Given the description of an element on the screen output the (x, y) to click on. 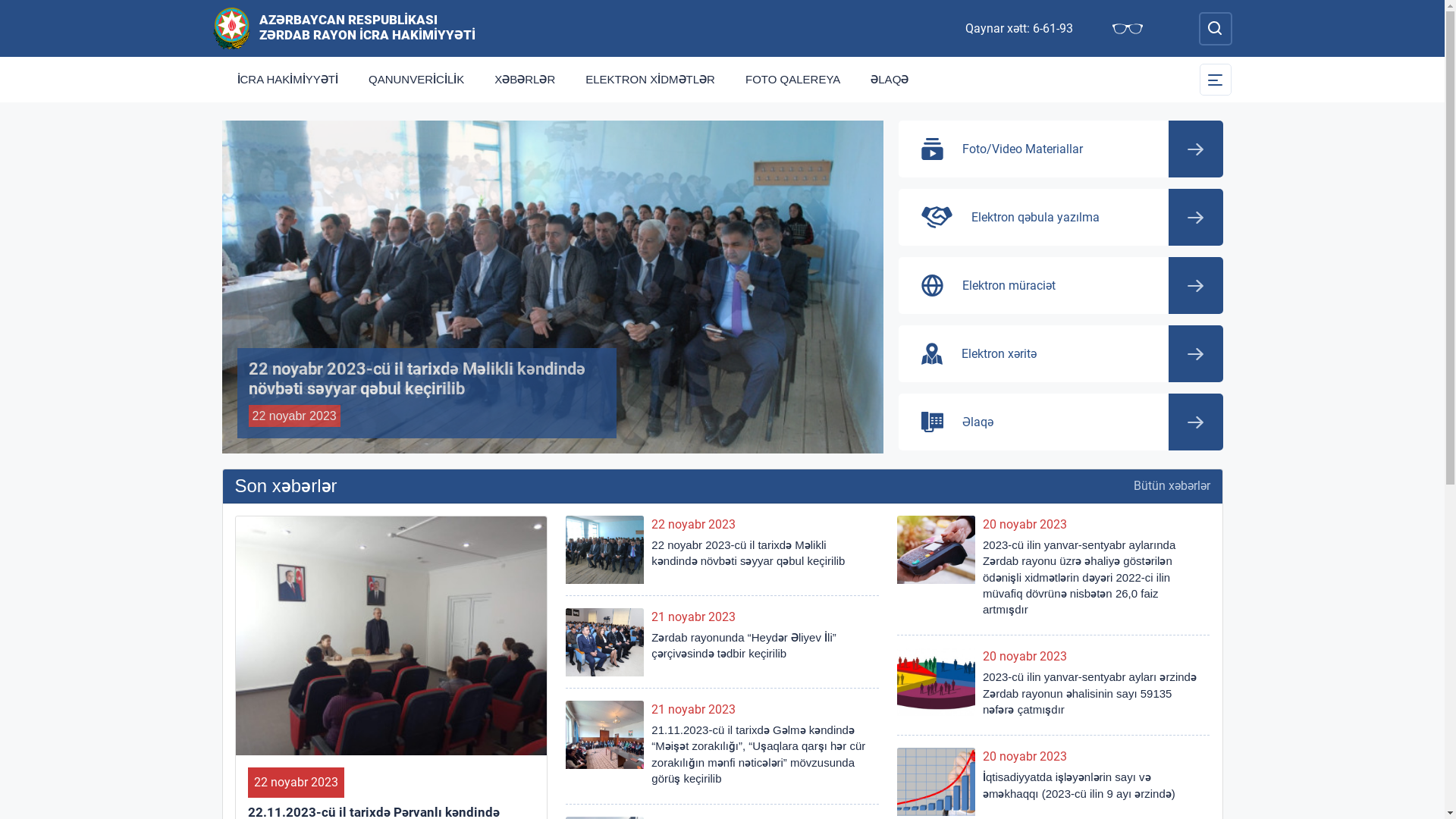
FOTO QALEREYA Element type: text (792, 79)
Foto/Video Materiallar Element type: text (1059, 148)
QANUNVERICILIK Element type: text (416, 79)
